Given the description of an element on the screen output the (x, y) to click on. 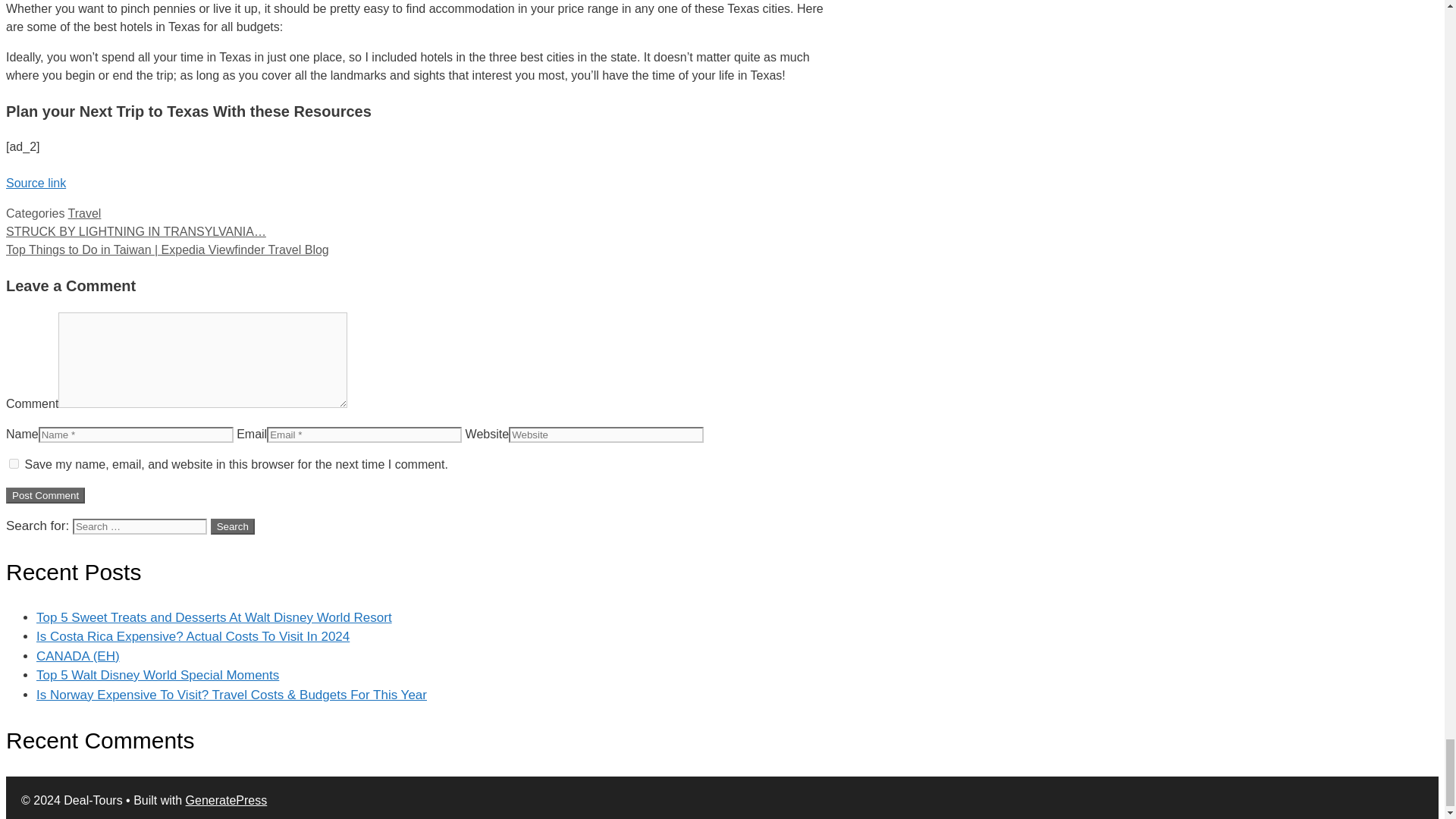
Top 5 Walt Disney World Special Moments (157, 675)
Top 5 Sweet Treats and Desserts At Walt Disney World Resort (213, 617)
Travel (84, 213)
yes (13, 463)
Source link (35, 182)
Search for: (139, 526)
Search (232, 526)
Search (232, 526)
Post Comment (44, 495)
Search (232, 526)
GeneratePress (226, 799)
Is Costa Rica Expensive? Actual Costs To Visit In 2024 (192, 636)
Post Comment (44, 495)
